Given the description of an element on the screen output the (x, y) to click on. 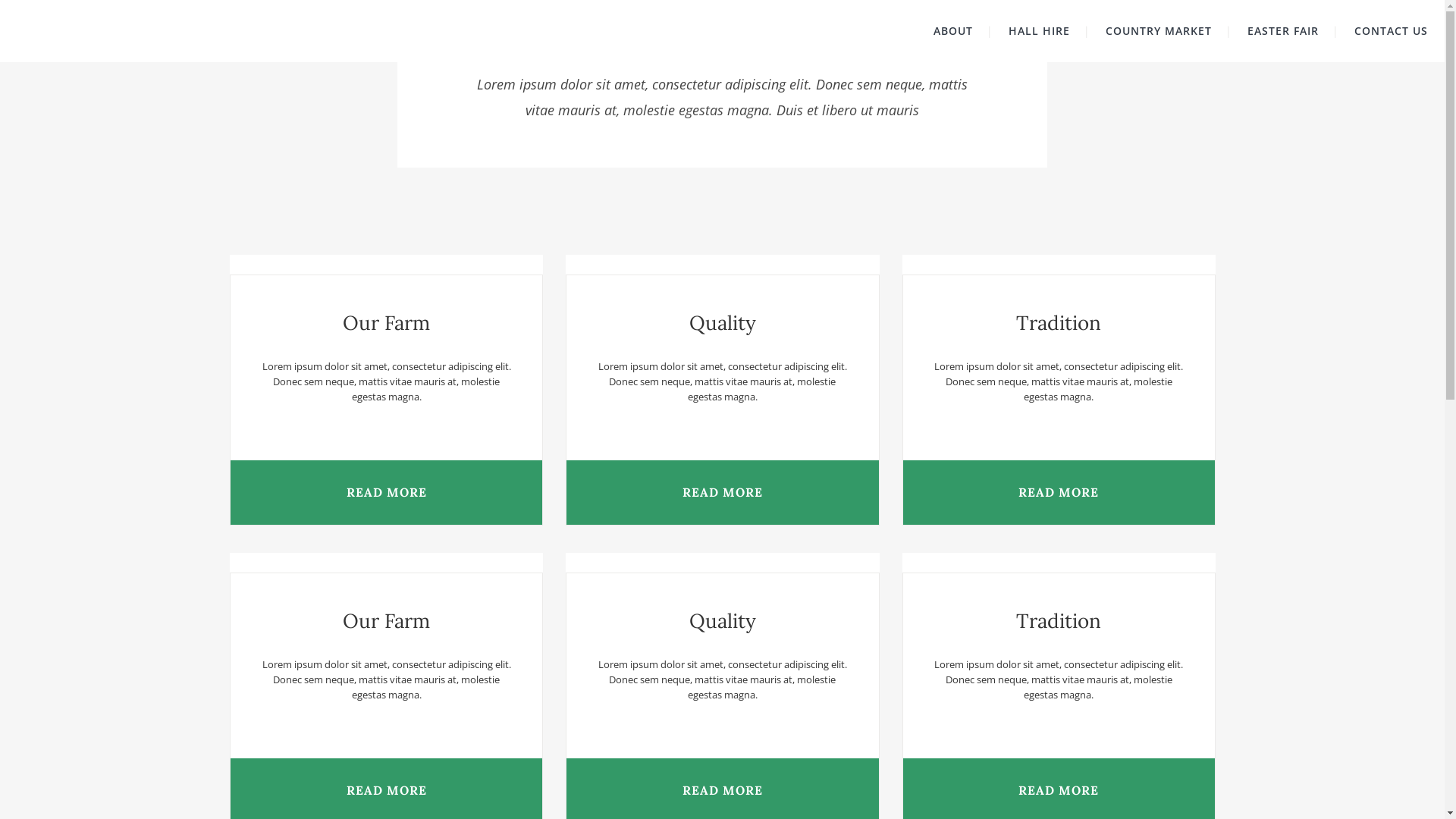
READ MORE Element type: text (722, 492)
ABOUT Element type: text (952, 31)
EASTER FAIR Element type: text (1282, 31)
COUNTRY MARKET Element type: text (1158, 31)
READ MORE Element type: text (1058, 492)
READ MORE Element type: text (386, 492)
CONTACT US Element type: text (1390, 31)
HALL HIRE Element type: text (1038, 31)
